Given the description of an element on the screen output the (x, y) to click on. 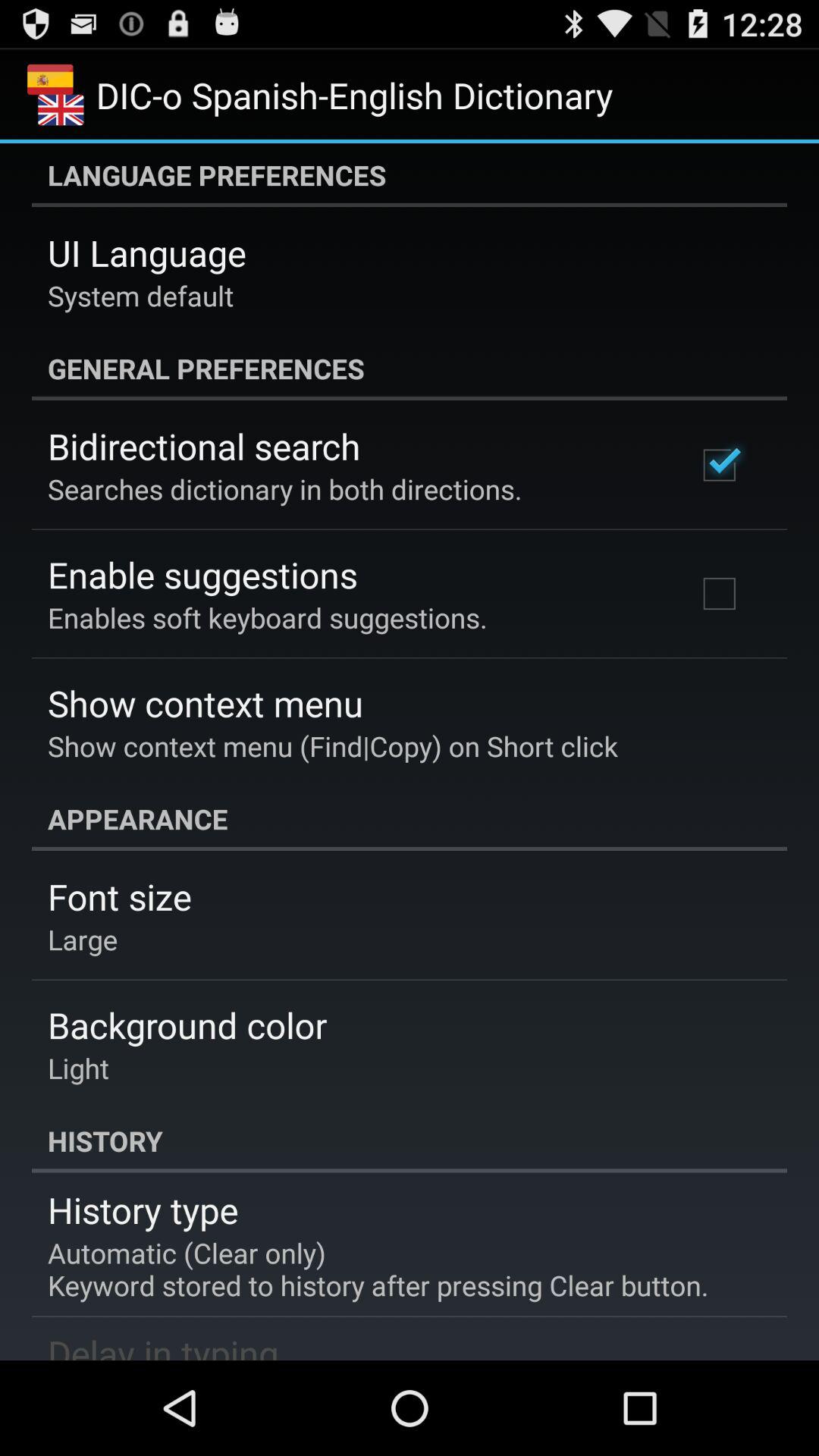
choose icon below bidirectional search (284, 488)
